Given the description of an element on the screen output the (x, y) to click on. 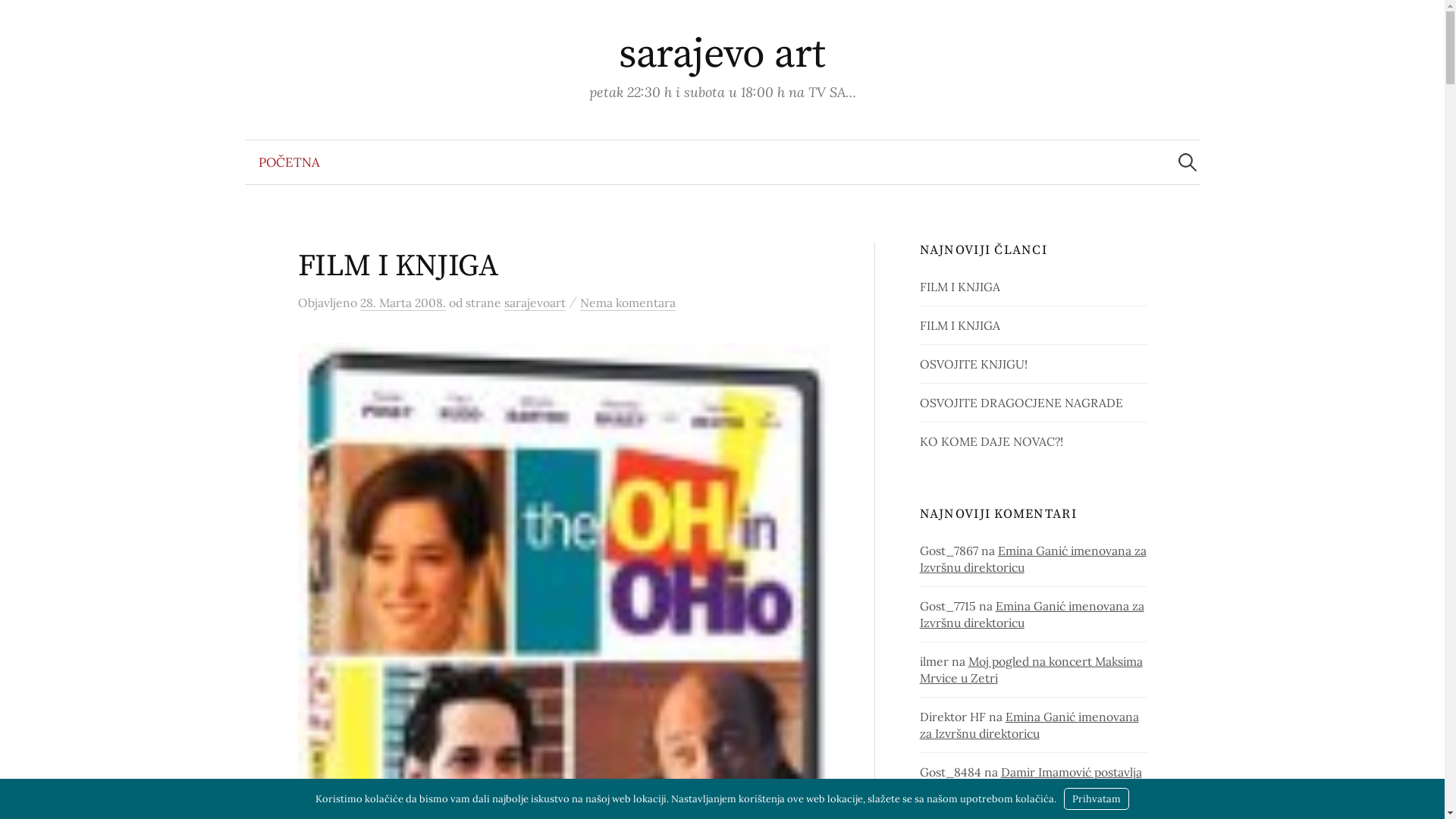
sarajevo art Element type: text (721, 54)
FILM I KNJIGA Element type: text (959, 324)
KO KOME DAJE NOVAC?! Element type: text (991, 440)
28. Marta 2008. Element type: text (402, 302)
Moj pogled na koncert Maksima Mrvice u Zetri Element type: text (1030, 669)
FILM I KNJIGA Element type: text (959, 286)
Prihvatam Element type: text (1096, 798)
OSVOJITE KNJIGU! Element type: text (973, 363)
Pretraga Element type: text (18, 18)
sarajevoart Element type: text (533, 302)
Nema komentara
na FILM I KNJIGA Element type: text (626, 302)
OSVOJITE DRAGOCJENE NAGRADE Element type: text (1021, 402)
FILM I KNJIGA Element type: text (397, 266)
